Given the description of an element on the screen output the (x, y) to click on. 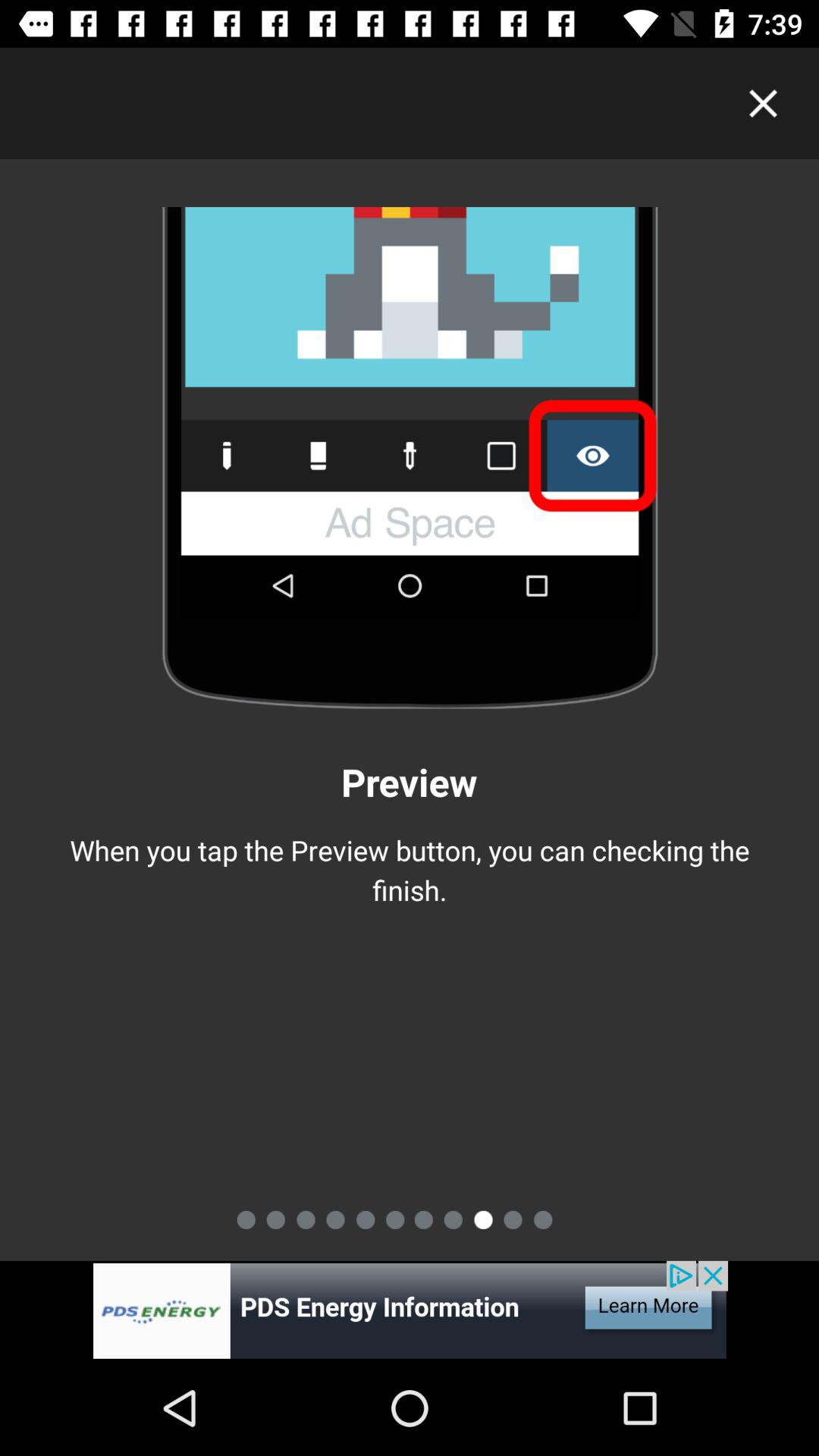
exit this screen (763, 103)
